Given the description of an element on the screen output the (x, y) to click on. 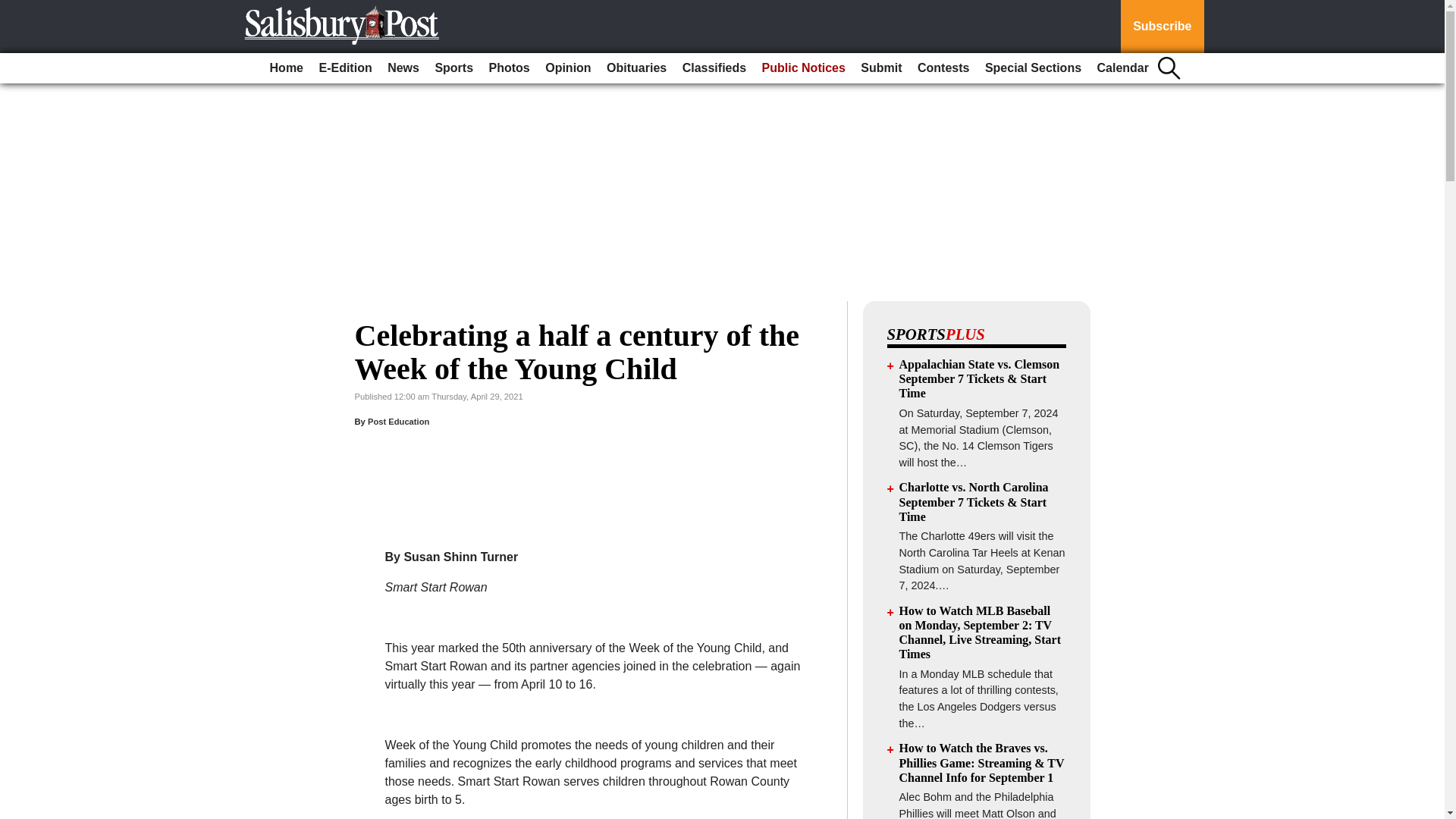
News (403, 68)
Photos (509, 68)
Opinion (567, 68)
Classifieds (714, 68)
Contests (943, 68)
Submit (880, 68)
Subscribe (1162, 26)
Obituaries (635, 68)
Special Sections (1032, 68)
Public Notices (803, 68)
